Given the description of an element on the screen output the (x, y) to click on. 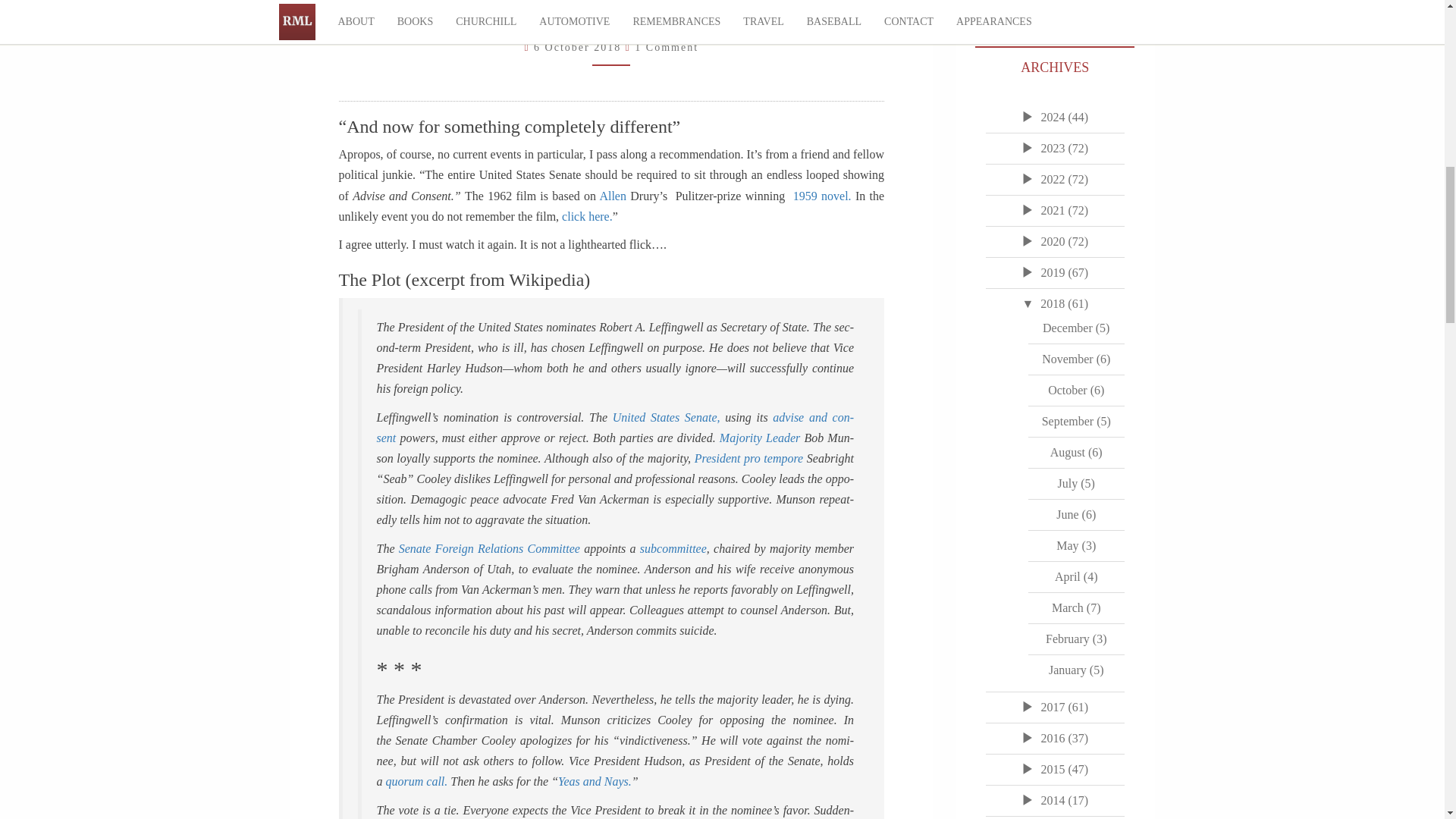
Senate Foreign Relations Committee (488, 548)
6 October 2018 (580, 47)
United States Senate (666, 417)
Yeas and Nays. (594, 780)
1 Comment (666, 47)
Allen (612, 195)
Senate Majority Leader (759, 437)
click here. (587, 215)
14:00 (580, 47)
President pro tempore of the United States Senate (748, 458)
